Given the description of an element on the screen output the (x, y) to click on. 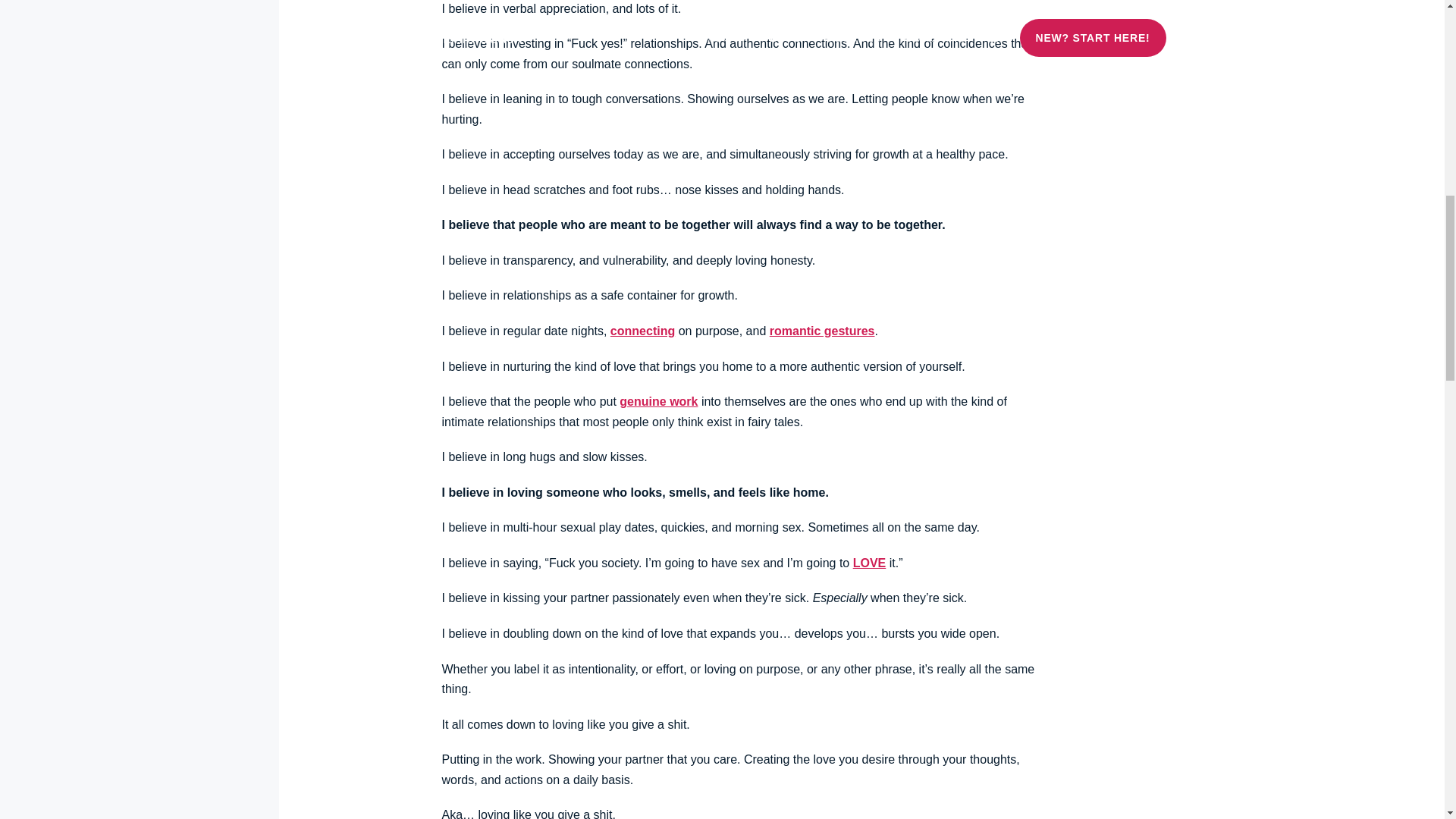
genuine work (658, 400)
romantic gestures (822, 330)
connecting (642, 330)
LOVE (869, 562)
